Given the description of an element on the screen output the (x, y) to click on. 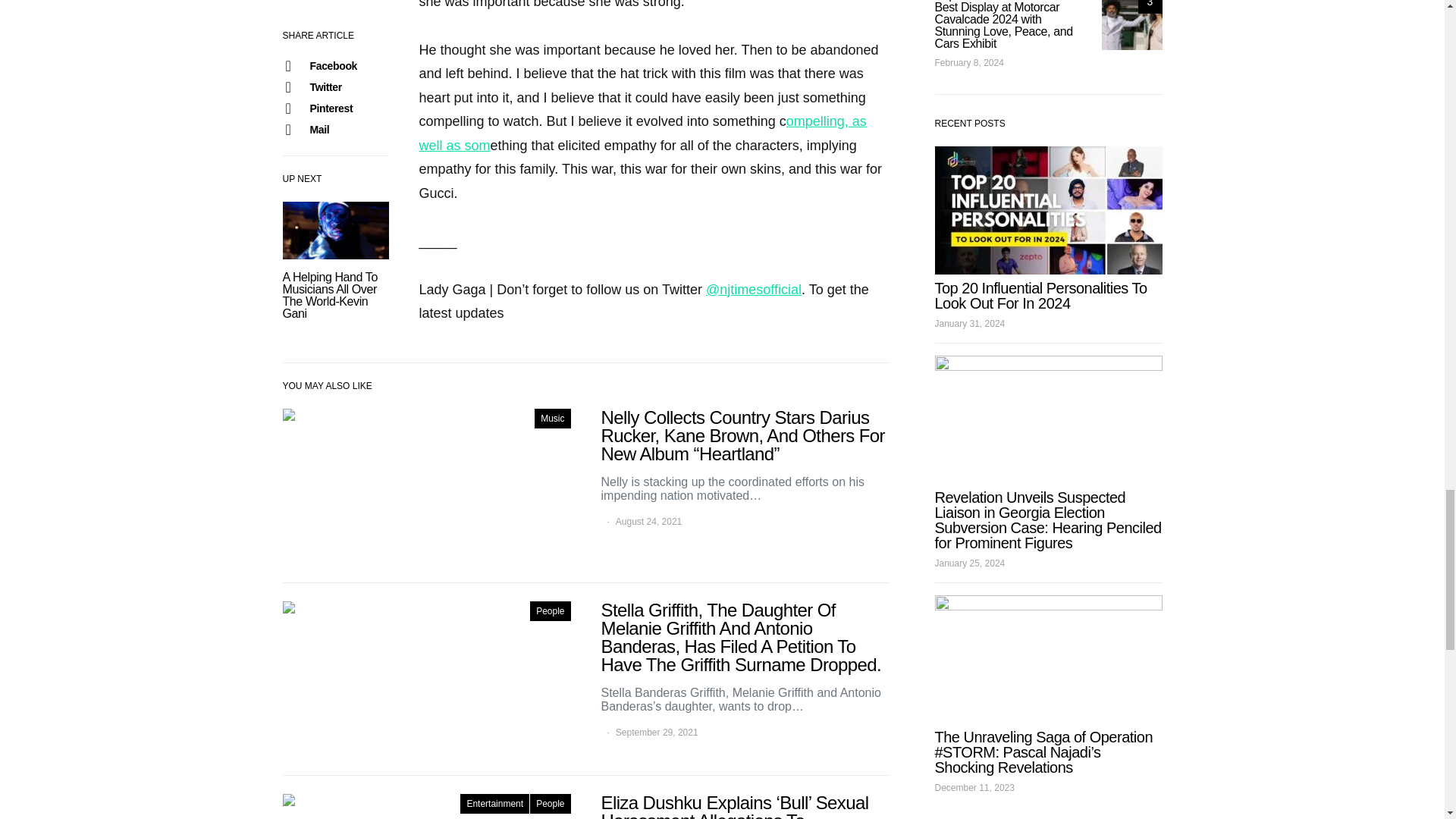
A Helping Hand To Musicians All Over The World-Kevin Gani (329, 295)
Music (552, 418)
People (549, 610)
ompelling, as well as som (642, 133)
Entertainment (494, 803)
